Given the description of an element on the screen output the (x, y) to click on. 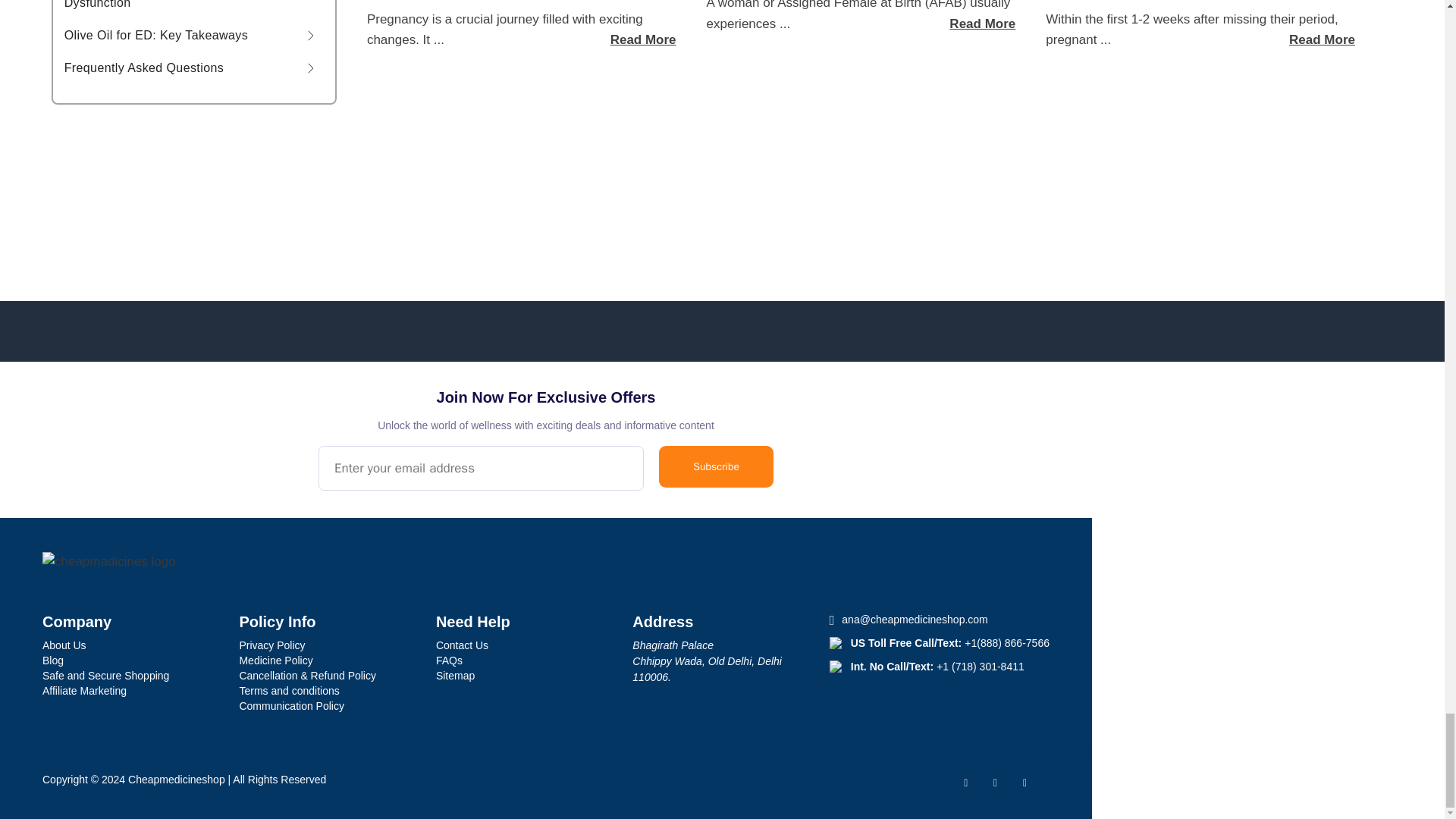
Subscribe (716, 466)
instagram (1036, 781)
twitter (1007, 781)
facebook (977, 781)
